Given the description of an element on the screen output the (x, y) to click on. 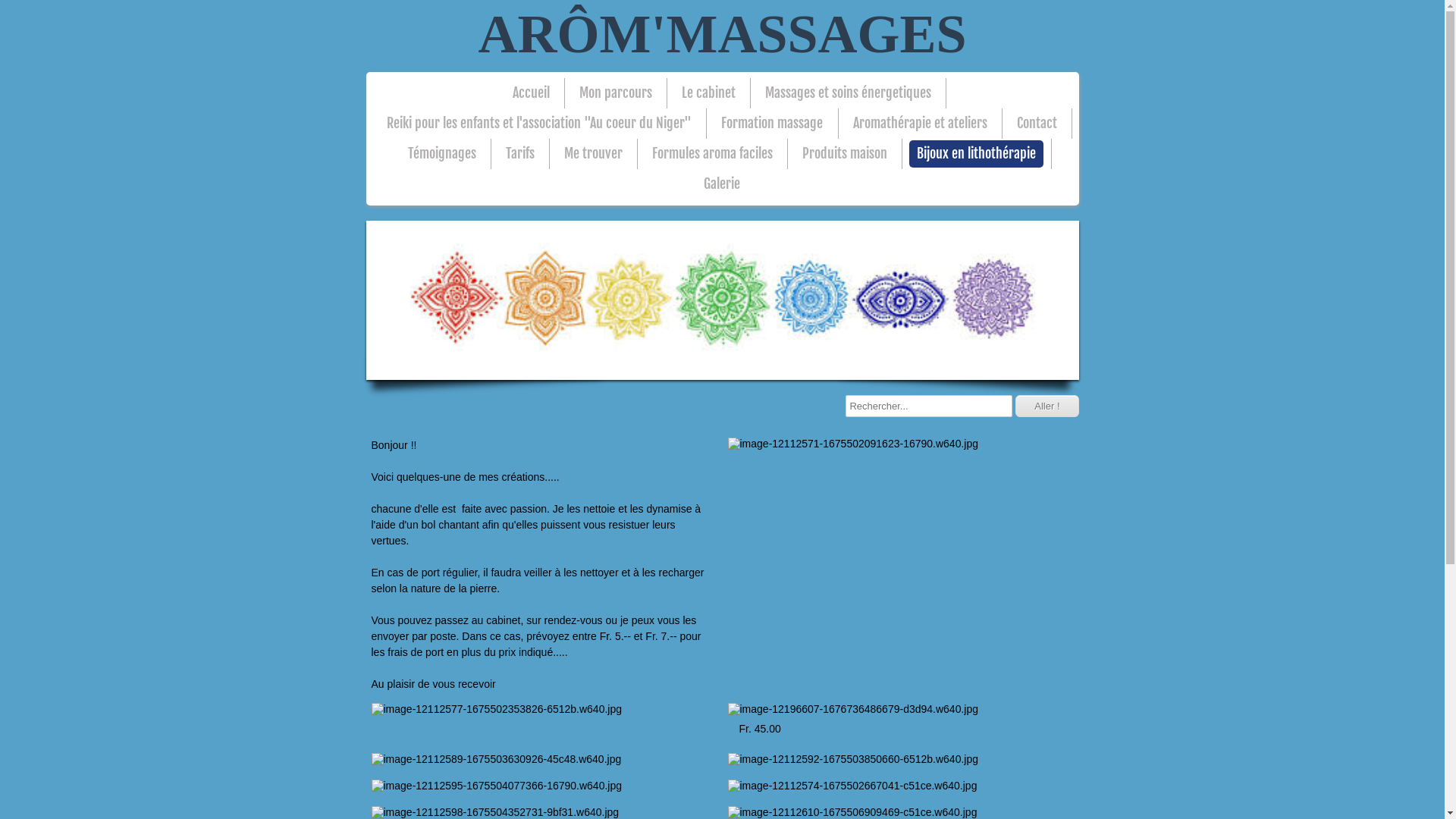
Contact Element type: text (1036, 123)
Mon parcours Element type: text (615, 92)
Galerie Element type: text (721, 183)
Reiki pour les enfants et l'association "Au coeur du Niger" Element type: text (539, 123)
Accueil Element type: text (531, 92)
Produits maison Element type: text (844, 153)
Formation massage Element type: text (771, 123)
Formules aroma faciles Element type: text (712, 153)
Me trouver Element type: text (593, 153)
Le cabinet Element type: text (708, 92)
Tarifs Element type: text (520, 153)
